Given the description of an element on the screen output the (x, y) to click on. 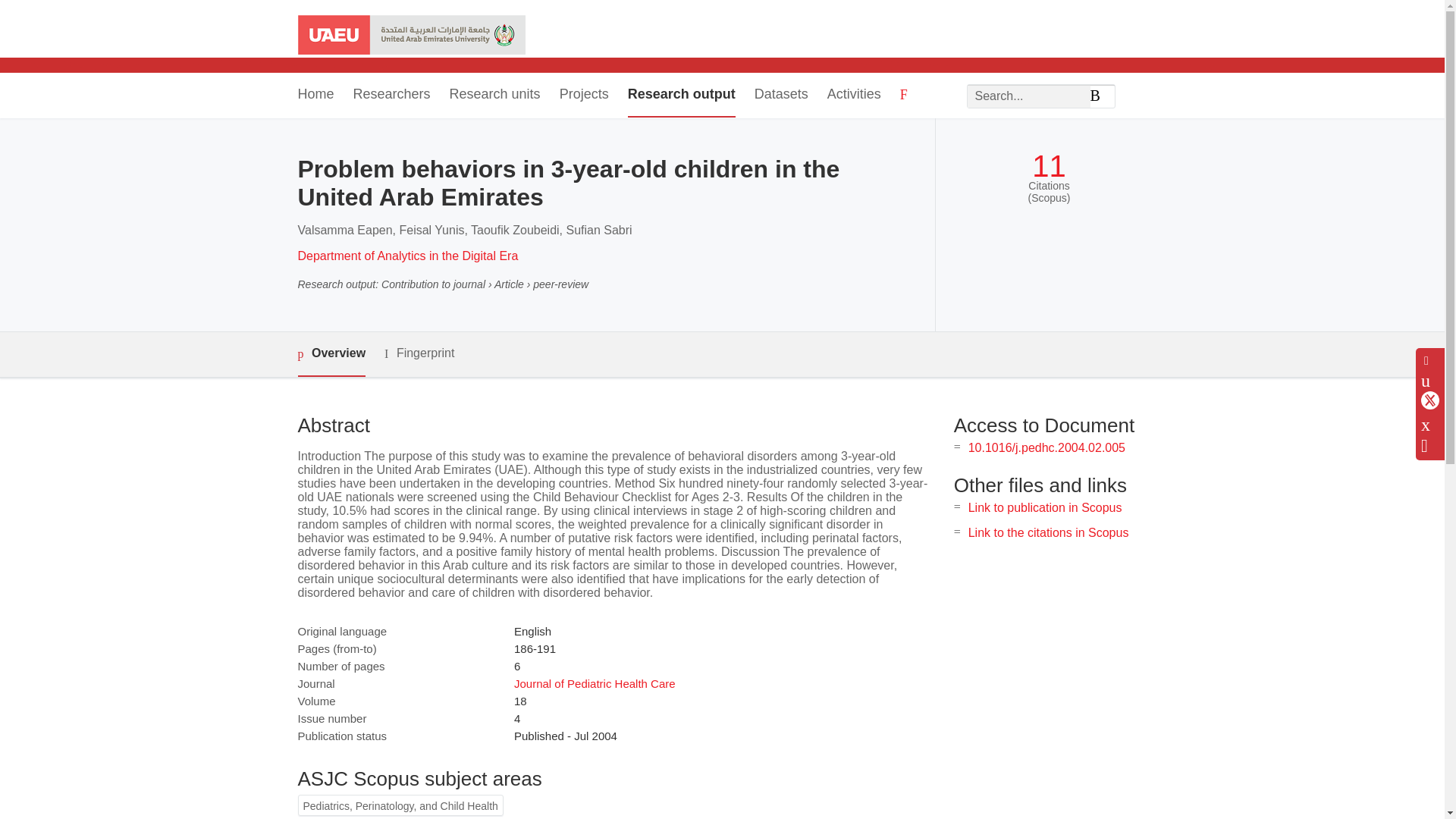
Department of Analytics in the Digital Era (407, 255)
Link to the citations in Scopus (1048, 532)
Overview (331, 354)
Research units (494, 94)
Fingerprint (419, 353)
United Arab Emirates University Home (410, 36)
Researchers (391, 94)
Link to publication in Scopus (1045, 507)
Journal of Pediatric Health Care (594, 683)
Activities (853, 94)
11 (1048, 166)
Datasets (781, 94)
Projects (583, 94)
Research output (681, 94)
